Given the description of an element on the screen output the (x, y) to click on. 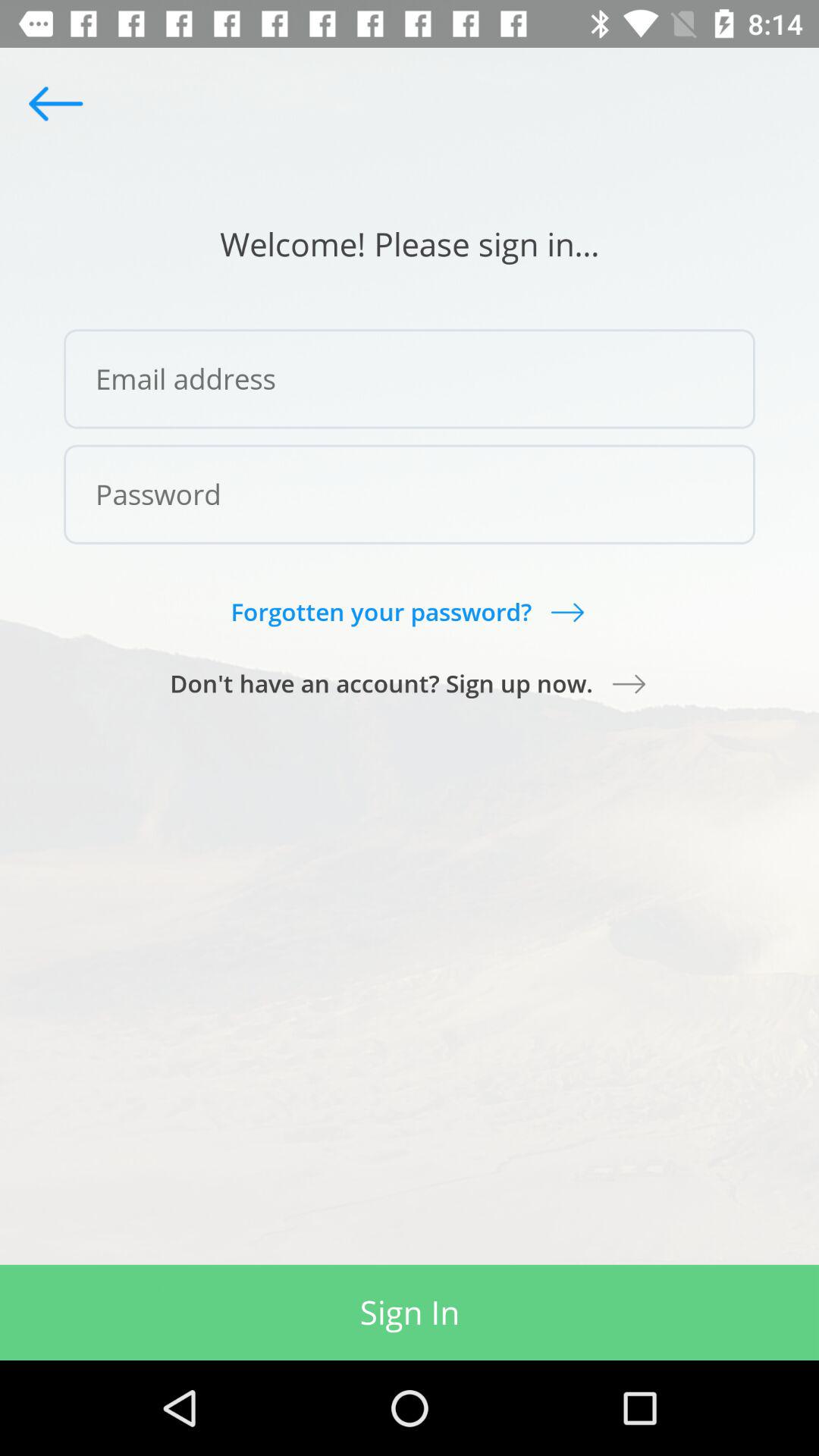
password field (409, 494)
